Given the description of an element on the screen output the (x, y) to click on. 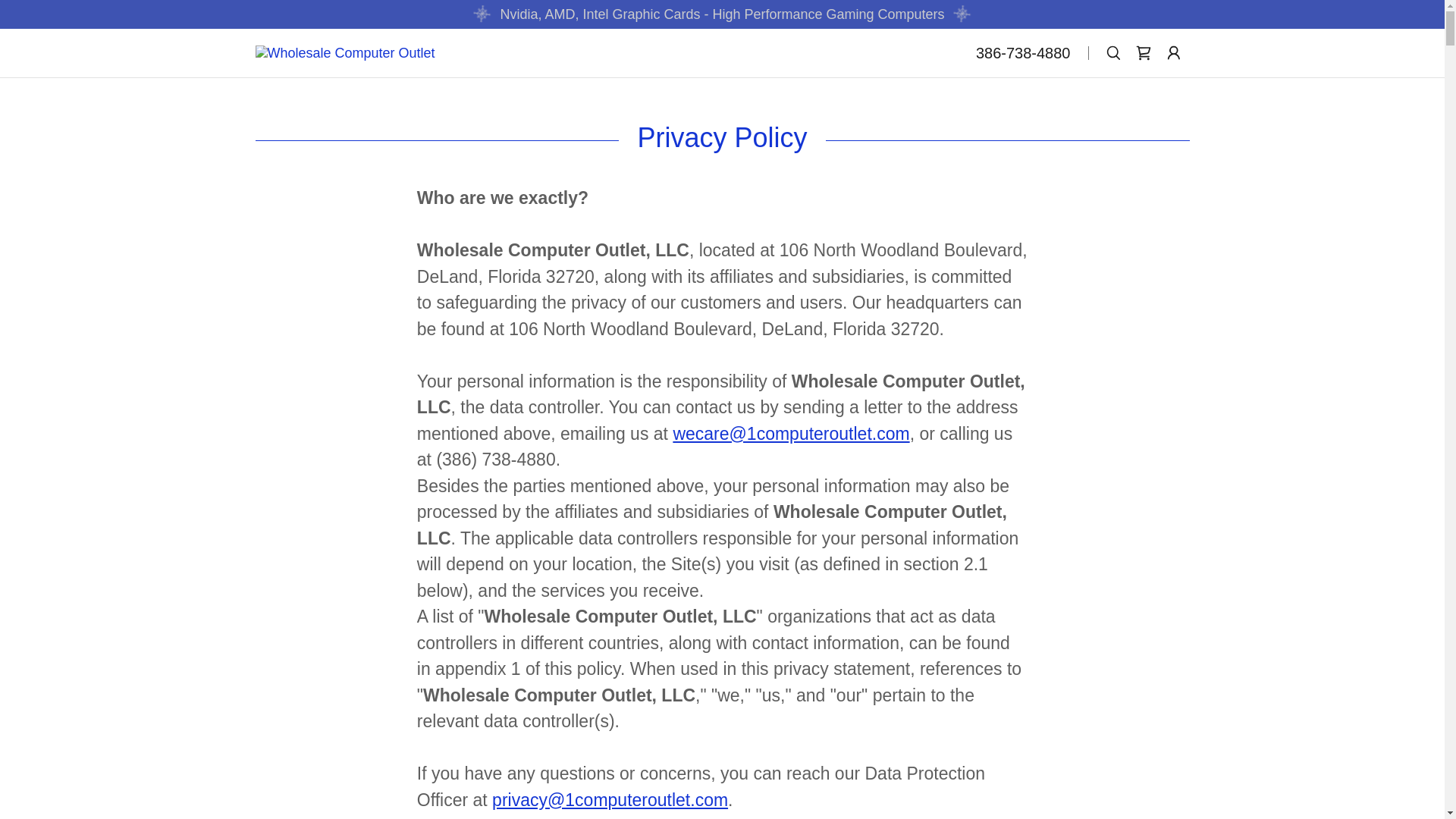
Wholesale Computer Outlet Element type: hover (344, 51)
wecare@1computeroutlet.com Element type: text (790, 432)
privacy@1computeroutlet.com Element type: text (610, 799)
386-738-4880 Element type: text (1022, 52)
